Given the description of an element on the screen output the (x, y) to click on. 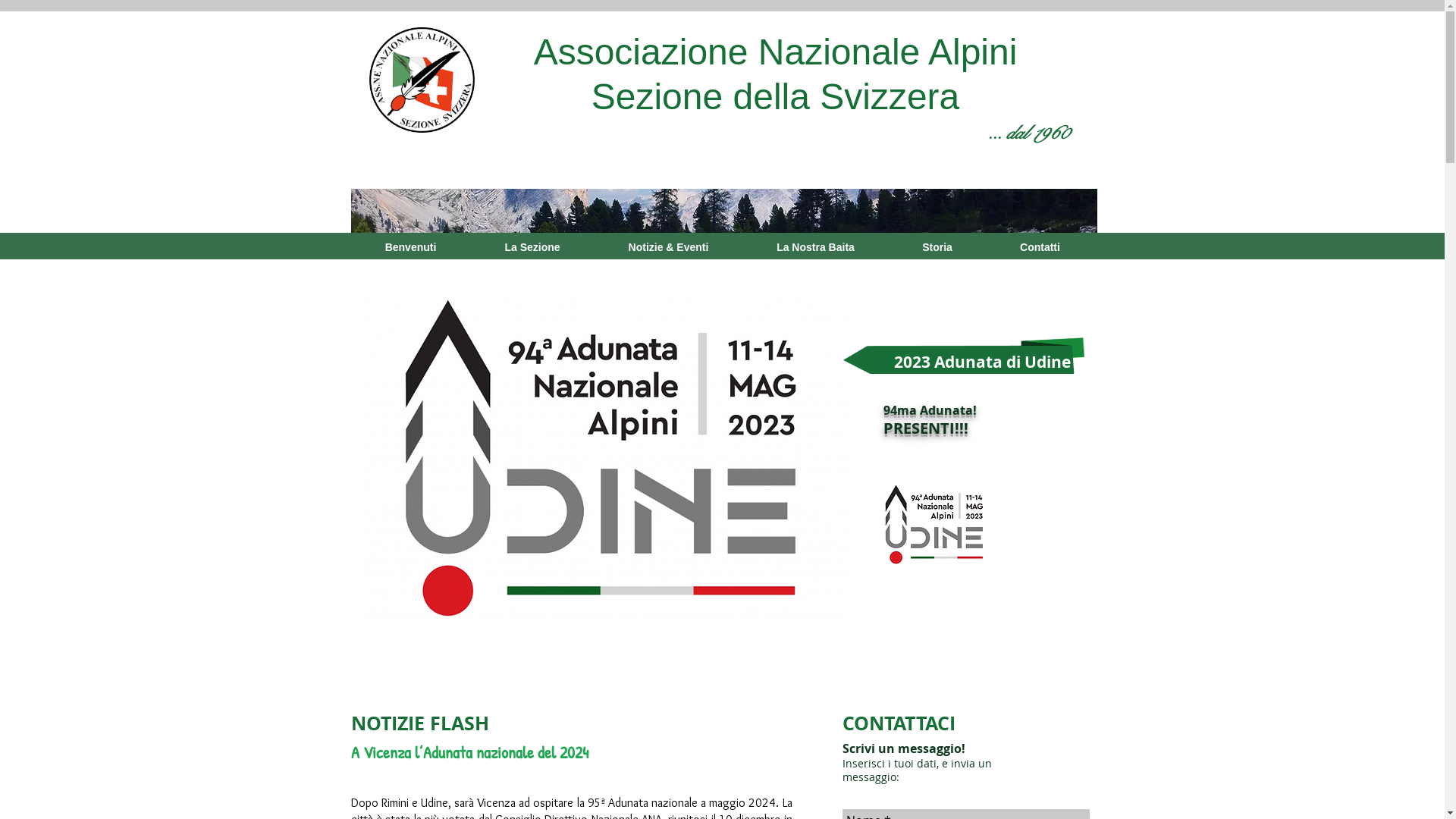
Benvenuti Element type: text (410, 247)
Notizie & Eventi Element type: text (668, 247)
La Nostra Baita Element type: text (815, 247)
Logo-94-udine-2023-768x614.png Element type: hover (933, 523)
Contatti Element type: text (1039, 247)
Storia Element type: text (937, 247)
spa-resorts-dolomites-italy-hotel-rosa-alpina-banner.jpg Element type: hover (723, 211)
La Sezione Element type: text (531, 247)
logo sezione svizzera.gif Element type: hover (420, 79)
